Given the description of an element on the screen output the (x, y) to click on. 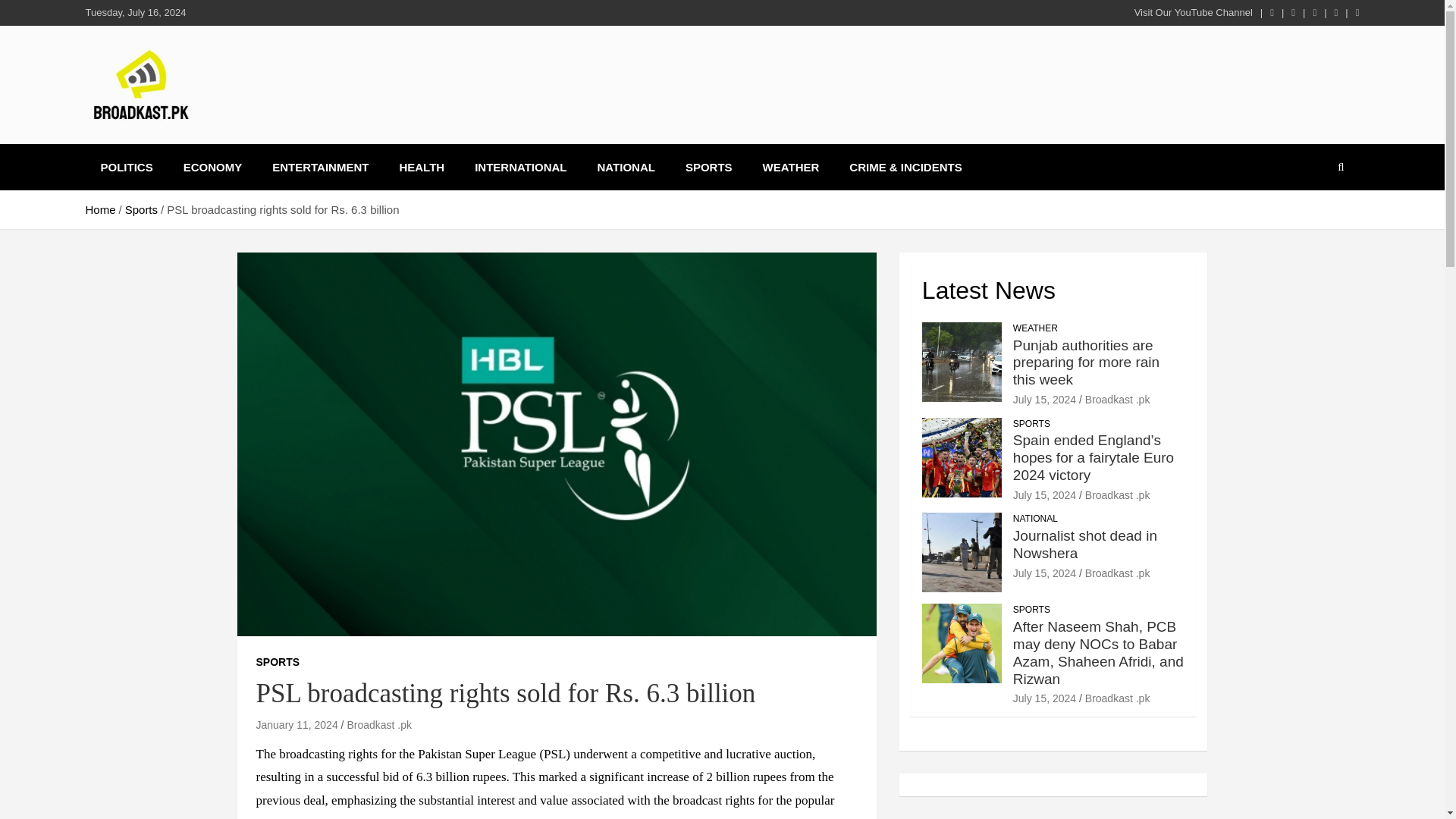
SPORTS (277, 662)
Home (99, 209)
Broadkast .pk (1117, 399)
ECONOMY (212, 167)
July 15, 2024 (1044, 399)
Punjab authorities are preparing for more rain this week (1085, 362)
Latest News (988, 289)
HEALTH (422, 167)
WEATHER (1035, 328)
July 15, 2024 (1044, 494)
POLITICS (125, 167)
January 11, 2024 (296, 725)
INTERNATIONAL (520, 167)
ENTERTAINMENT (320, 167)
